Given the description of an element on the screen output the (x, y) to click on. 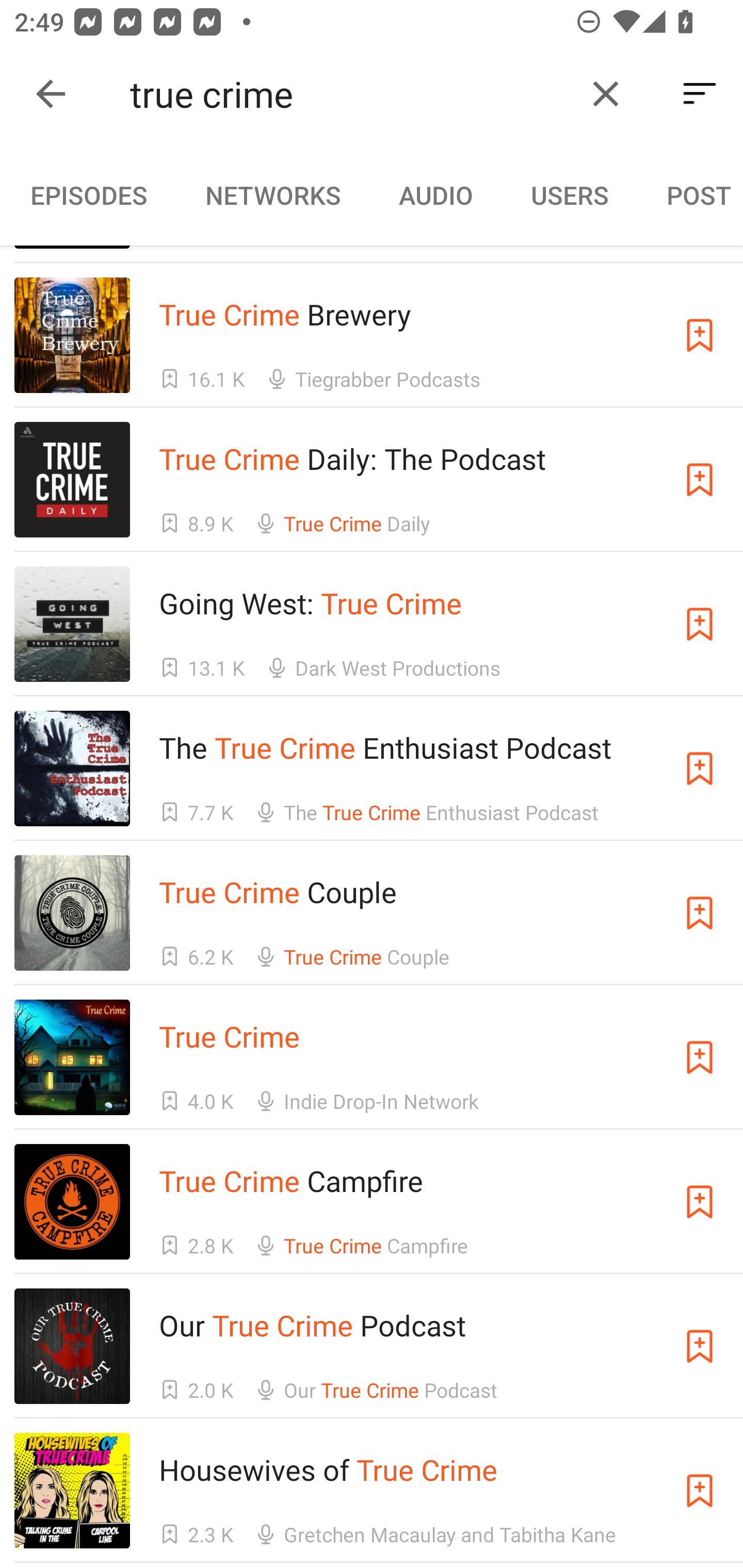
Collapse (50, 93)
Clear query (605, 93)
Sort By (699, 93)
true crime (349, 94)
EPISODES (88, 195)
NETWORKS (272, 195)
AUDIO (435, 195)
USERS (569, 195)
POST (690, 195)
Subscribe (699, 335)
Subscribe (699, 479)
Subscribe (699, 624)
Subscribe (699, 768)
Subscribe (699, 912)
Subscribe (699, 1057)
Subscribe (699, 1201)
Subscribe (699, 1345)
Subscribe (699, 1491)
